Given the description of an element on the screen output the (x, y) to click on. 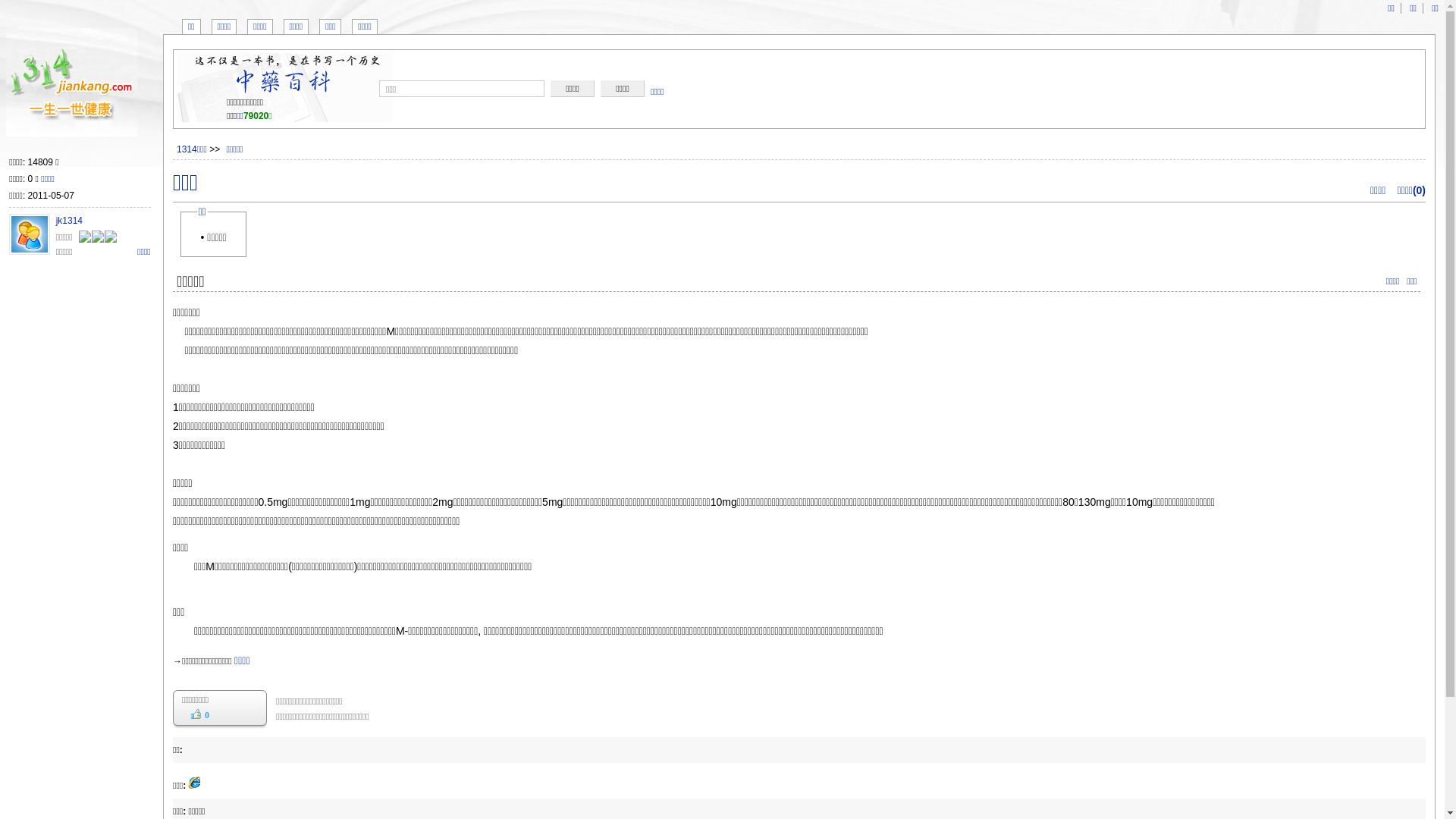
jk1314 Element type: text (69, 220)
jk1314 Element type: hover (29, 234)
